Given the description of an element on the screen output the (x, y) to click on. 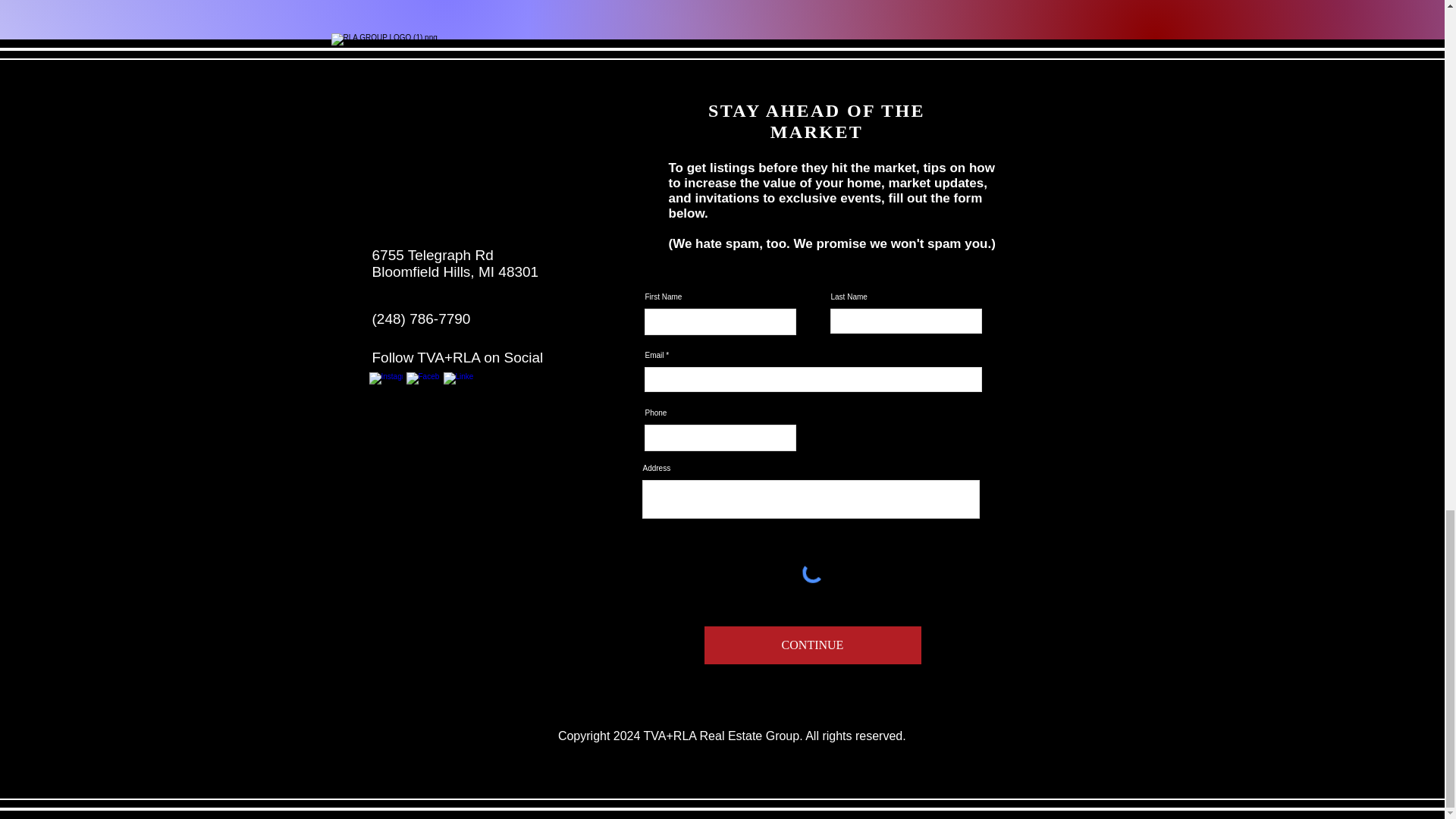
CONTINUE (811, 645)
